Given the description of an element on the screen output the (x, y) to click on. 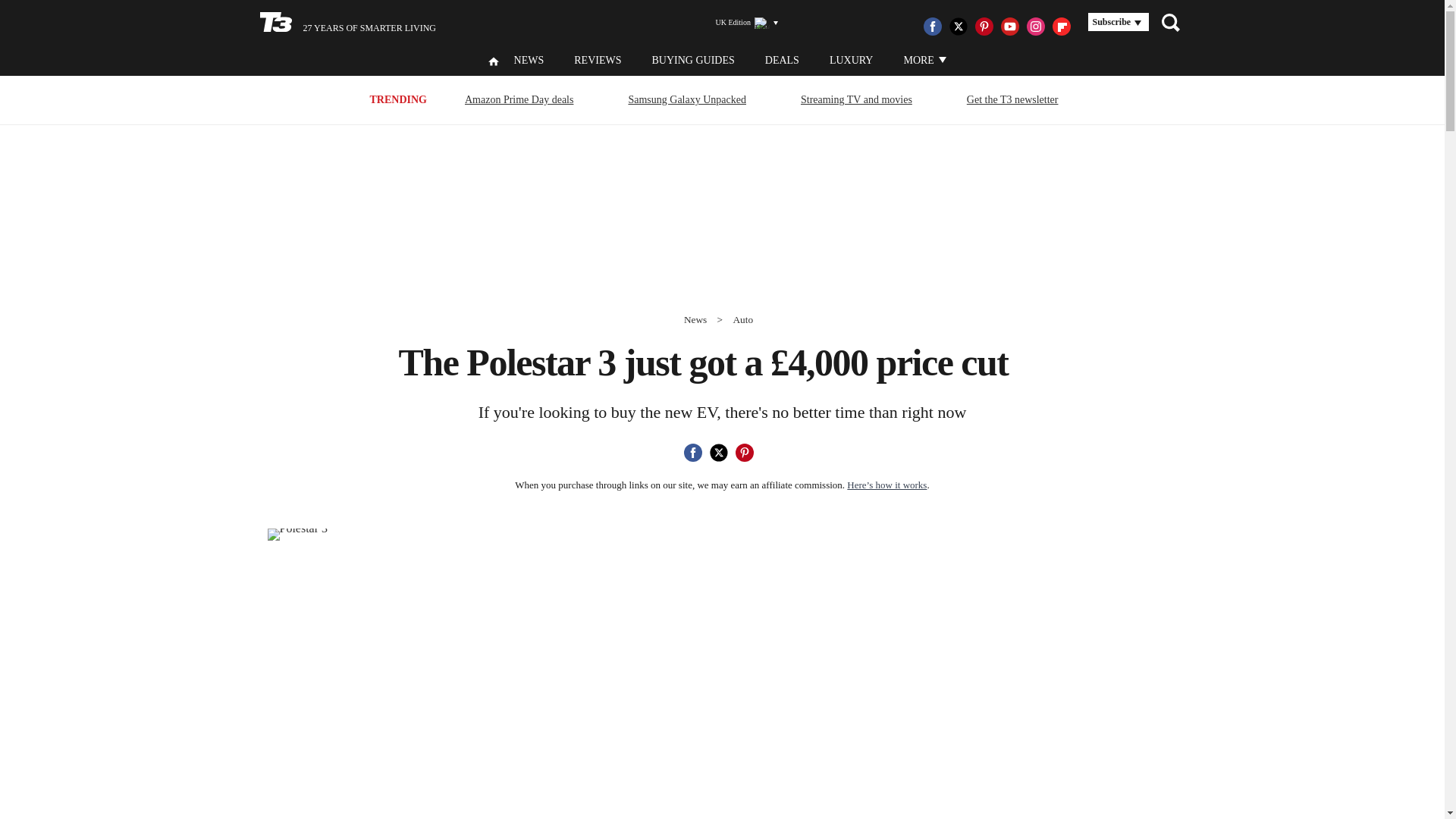
Amazon Prime Day deals (519, 99)
BUYING GUIDES (691, 60)
UK Edition (740, 22)
LUXURY (851, 60)
REVIEWS (597, 60)
27 YEARS OF SMARTER LIVING (347, 23)
Samsung Galaxy Unpacked (687, 99)
NEWS (528, 60)
DEALS (782, 60)
